Given the description of an element on the screen output the (x, y) to click on. 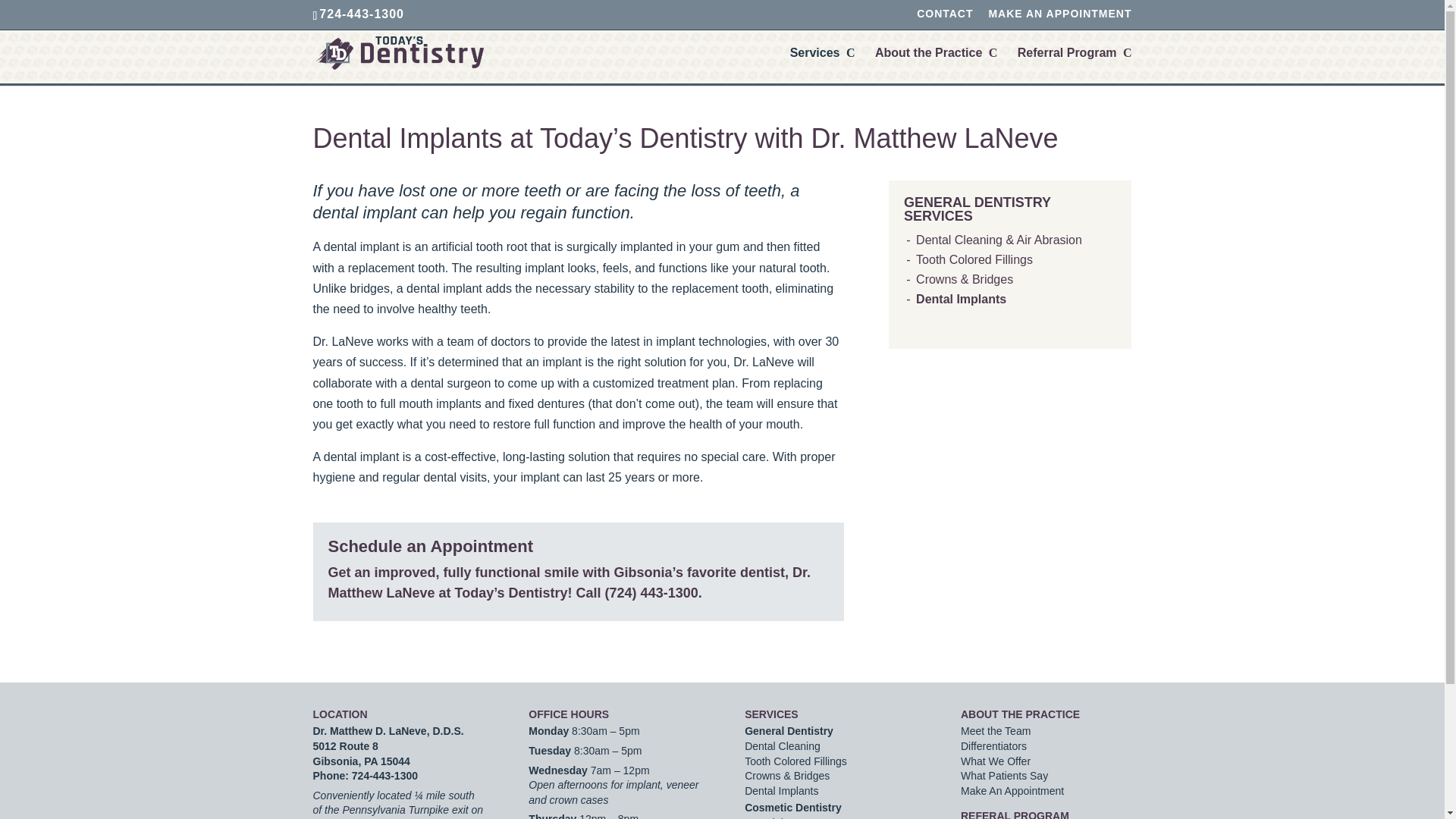
Tooth Colored Fillings (973, 259)
Cosmetic Dentistry (792, 807)
About the Practice (936, 65)
Dental Cleaning (782, 746)
Dental Implants (781, 790)
Dental Implants (960, 298)
MAKE AN APPOINTMENT (1059, 16)
General Dentistry (788, 730)
Services (823, 65)
Tooth Colored Fillings (795, 761)
